Given the description of an element on the screen output the (x, y) to click on. 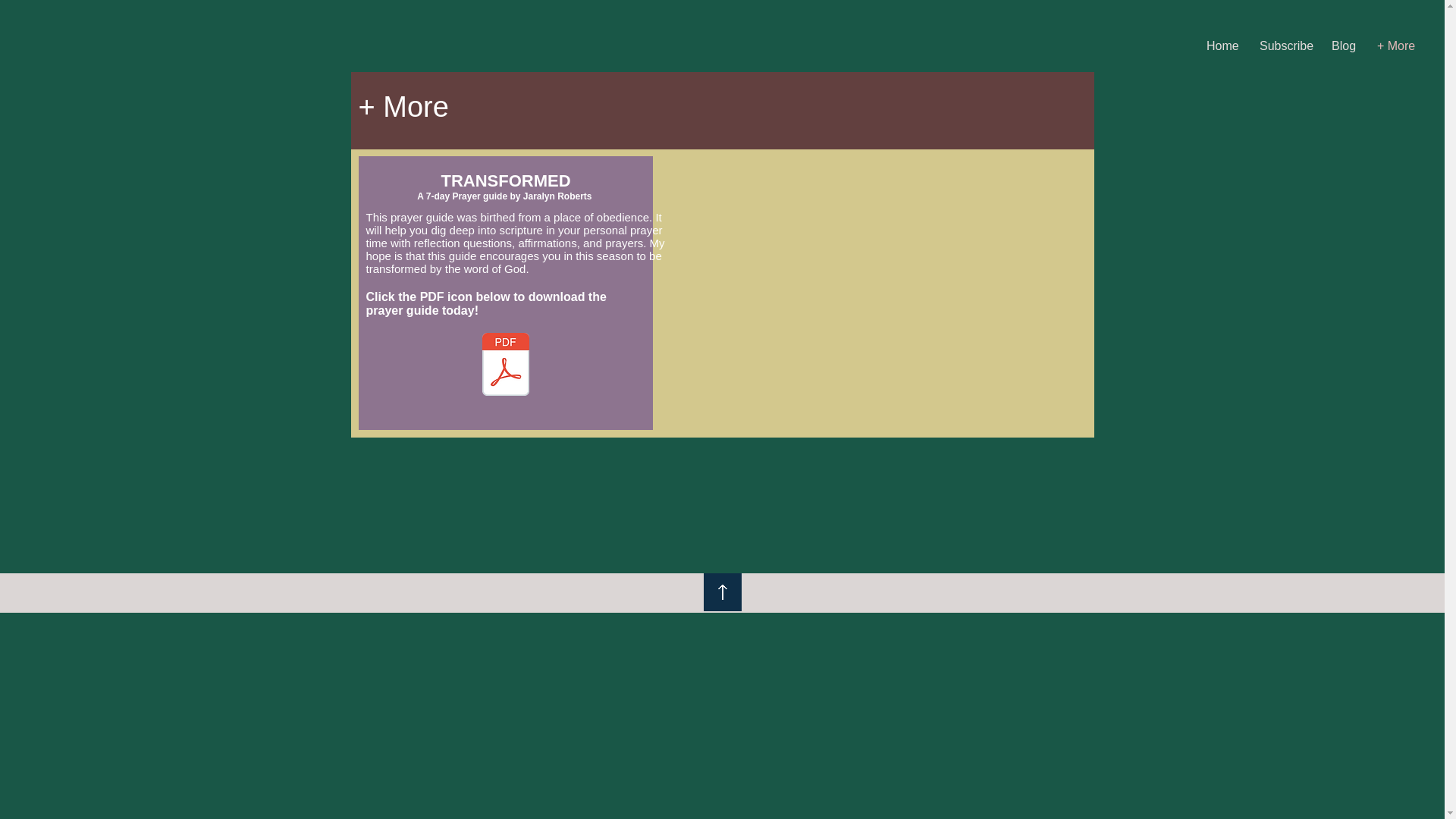
Subscribe (1283, 46)
Blog (1342, 46)
Home (1221, 46)
TRANSFORMED.pdf (505, 365)
